Given the description of an element on the screen output the (x, y) to click on. 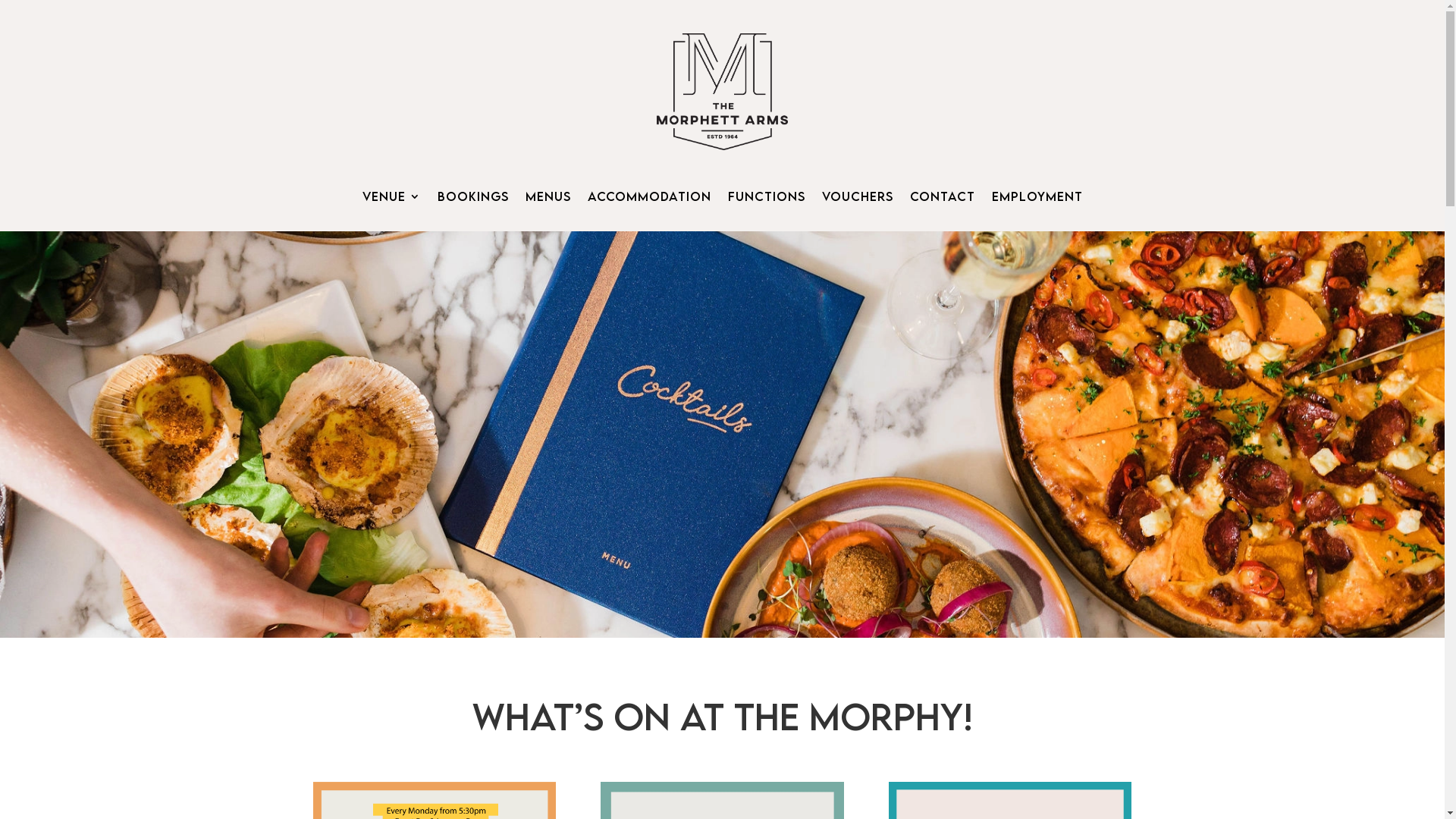
EMPLOYMENT Element type: text (1036, 199)
VOUCHERS Element type: text (857, 199)
CONTACT Element type: text (942, 199)
ACCOMMODATION Element type: text (648, 199)
BOOKINGS Element type: text (472, 199)
FUNCTIONS Element type: text (766, 199)
VENUE Element type: text (391, 199)
morphett-arms-logoshield-thick Element type: hover (721, 91)
MENUS Element type: text (547, 199)
